Given the description of an element on the screen output the (x, y) to click on. 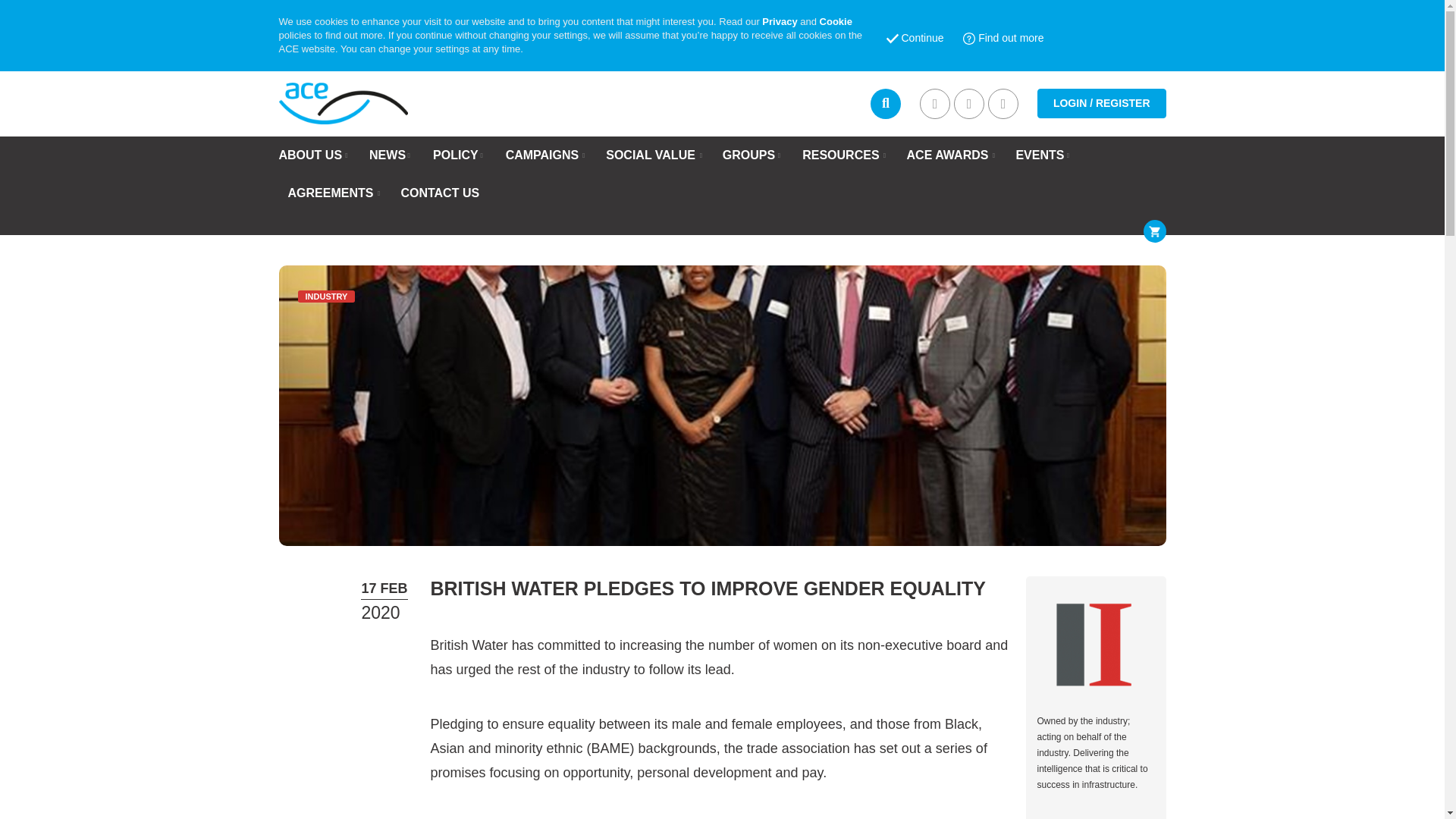
Continue (914, 40)
ABOUT US (310, 155)
CAMPAIGNS (542, 155)
GROUPS (748, 155)
SOCIAL VALUE (650, 155)
NEWS (387, 155)
POLICY (455, 155)
Find out more (1002, 40)
Privacy (778, 21)
Cookie (835, 21)
